Given the description of an element on the screen output the (x, y) to click on. 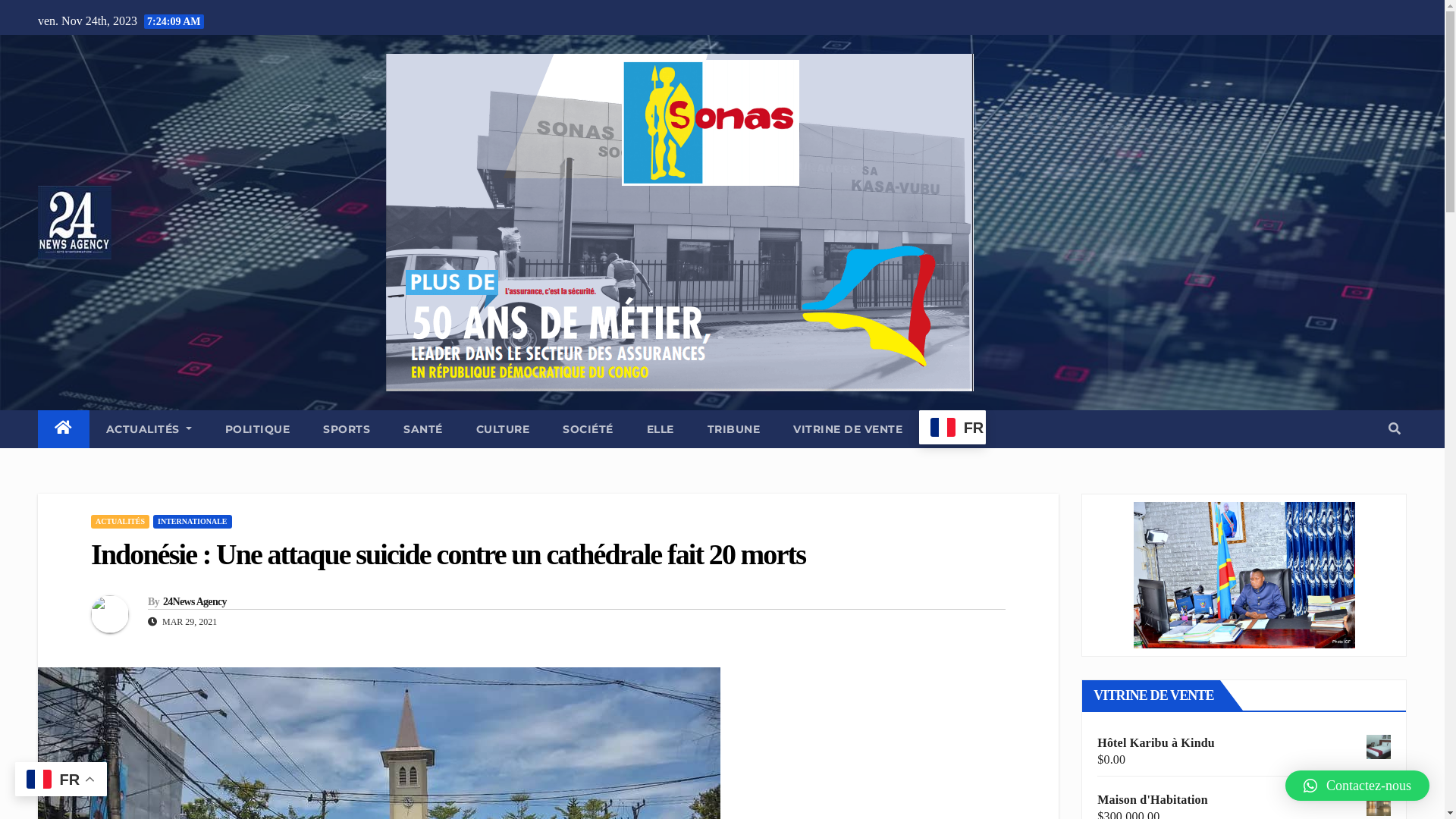
CULTURE Element type: text (502, 429)
VITRINE DE VENTE Element type: text (847, 429)
Contactez-nous Element type: text (1357, 785)
ELLE Element type: text (660, 429)
24News Agency Element type: text (194, 601)
SPORTS Element type: text (346, 429)
Maison d'Habitation Element type: text (1243, 799)
INTERNATIONALE Element type: text (192, 521)
TRIBUNE Element type: text (733, 429)
POLITIQUE Element type: text (257, 429)
